Given the description of an element on the screen output the (x, y) to click on. 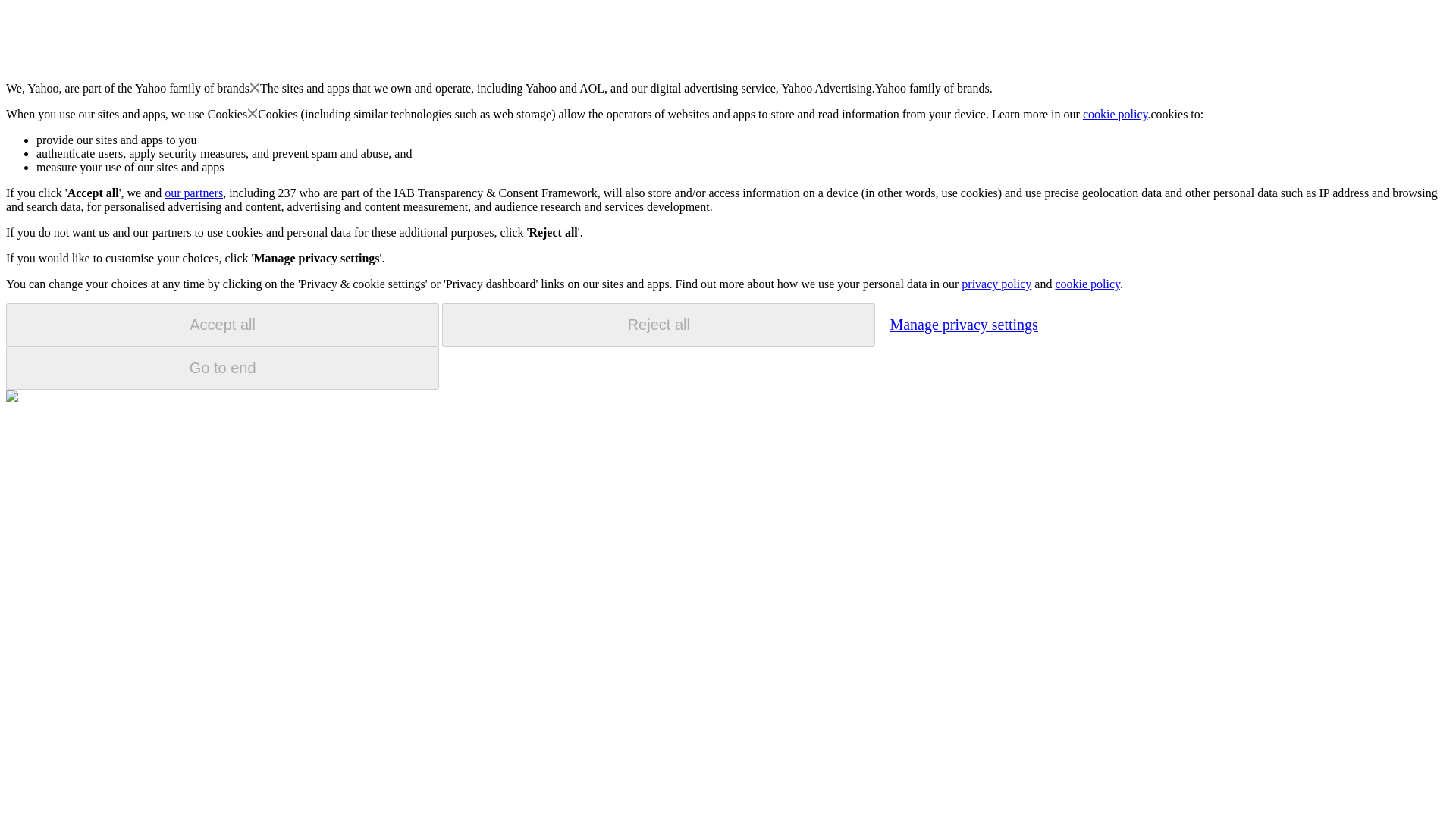
cookie policy (1086, 283)
cookie policy (1115, 113)
Manage privacy settings (963, 323)
Reject all (658, 324)
our partners (193, 192)
Accept all (222, 324)
Go to end (222, 367)
privacy policy (995, 283)
